Given the description of an element on the screen output the (x, y) to click on. 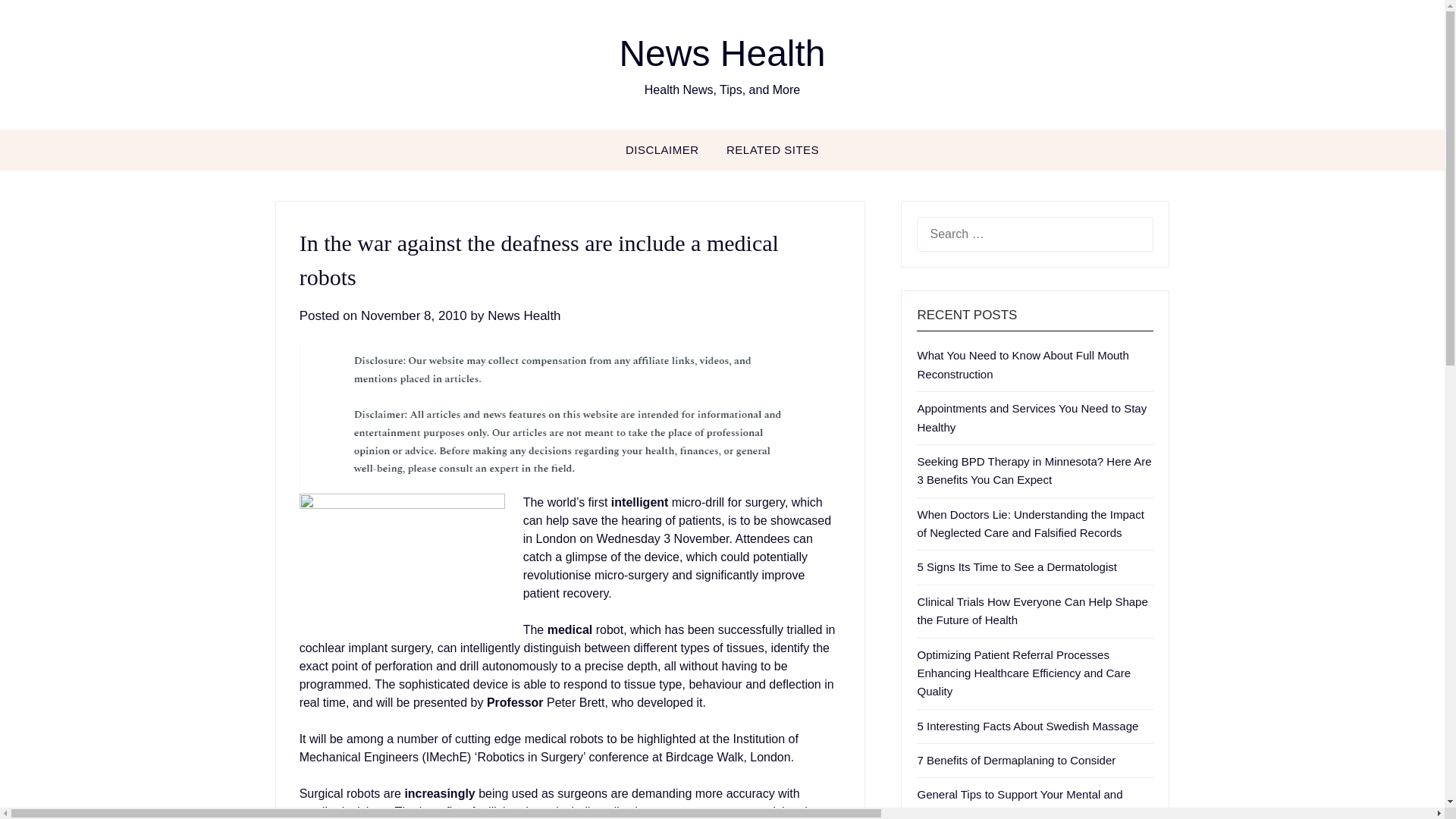
deafness (402, 561)
Search (38, 22)
News Health (721, 53)
Appointments and Services You Need to Stay Healthy (1032, 417)
What You Need to Know About Full Mouth Reconstruction (1022, 364)
News Health (523, 315)
General Tips to Support Your Mental and Physical Health (1019, 803)
5 Interesting Facts About Swedish Massage (1027, 725)
November 8, 2010 (414, 315)
RELATED SITES (772, 149)
7 Benefits of Dermaplaning to Consider (1016, 759)
DISCLAIMER (661, 149)
